Given the description of an element on the screen output the (x, y) to click on. 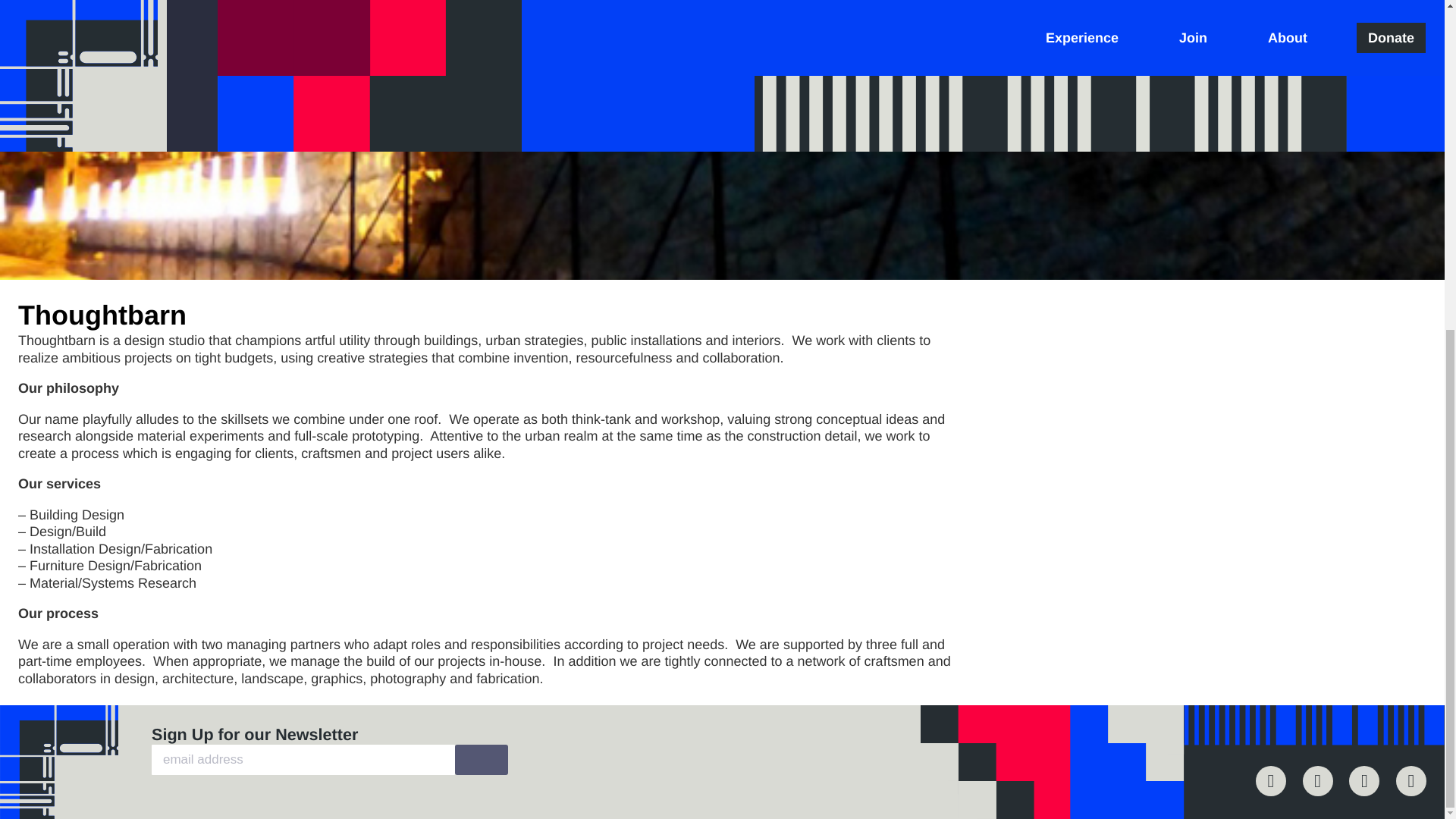
Subscribe (481, 759)
Subscribe (481, 759)
